Given the description of an element on the screen output the (x, y) to click on. 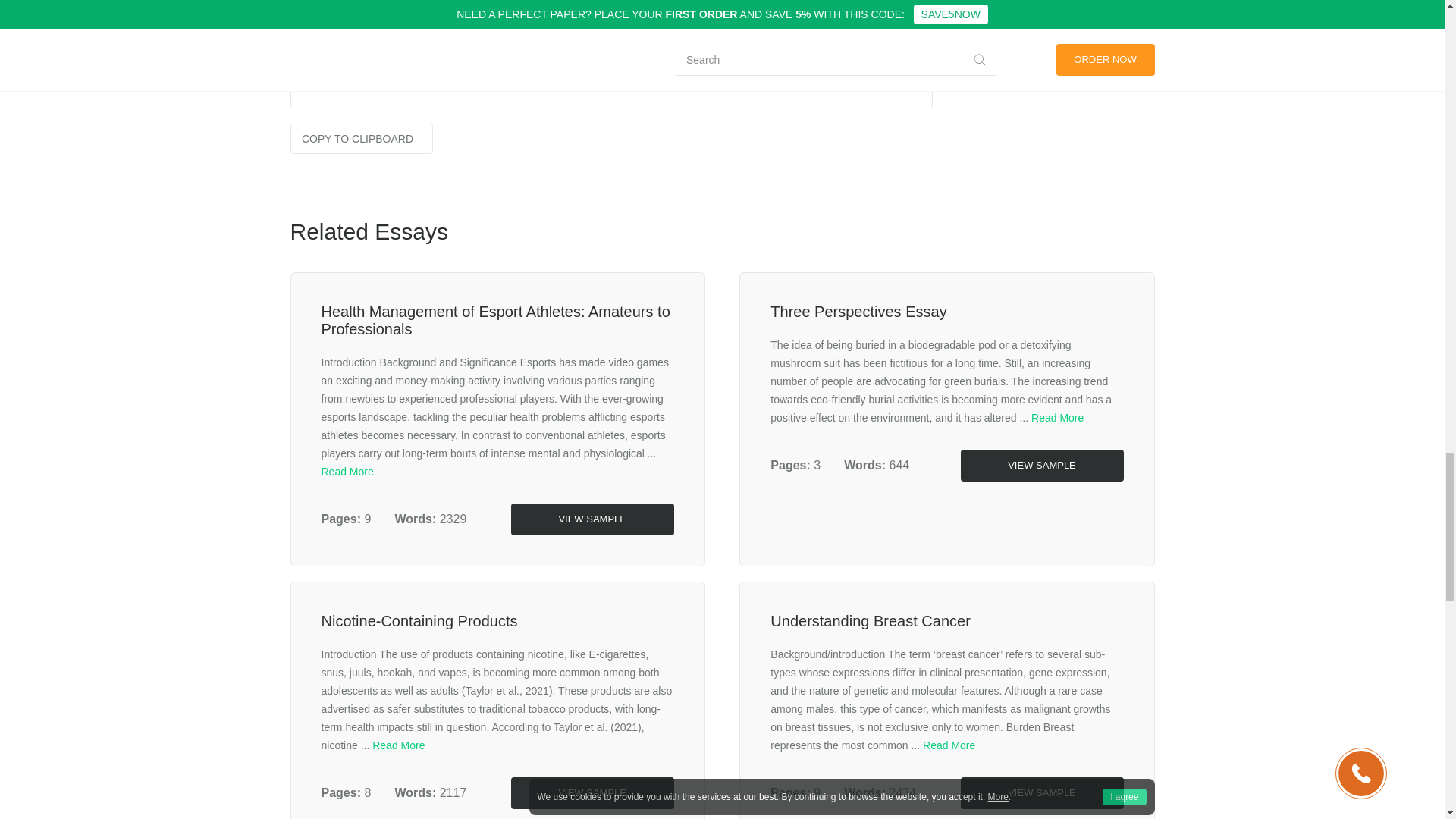
VIEW SAMPLE (592, 519)
VIEW SAMPLE (1040, 793)
Nicotine-Containing Products (419, 620)
Three Perspectives Essay (858, 311)
Understanding Breast Cancer (869, 620)
Read More (949, 745)
Read More (347, 471)
Read More (398, 745)
VIEW SAMPLE (592, 793)
